Given the description of an element on the screen output the (x, y) to click on. 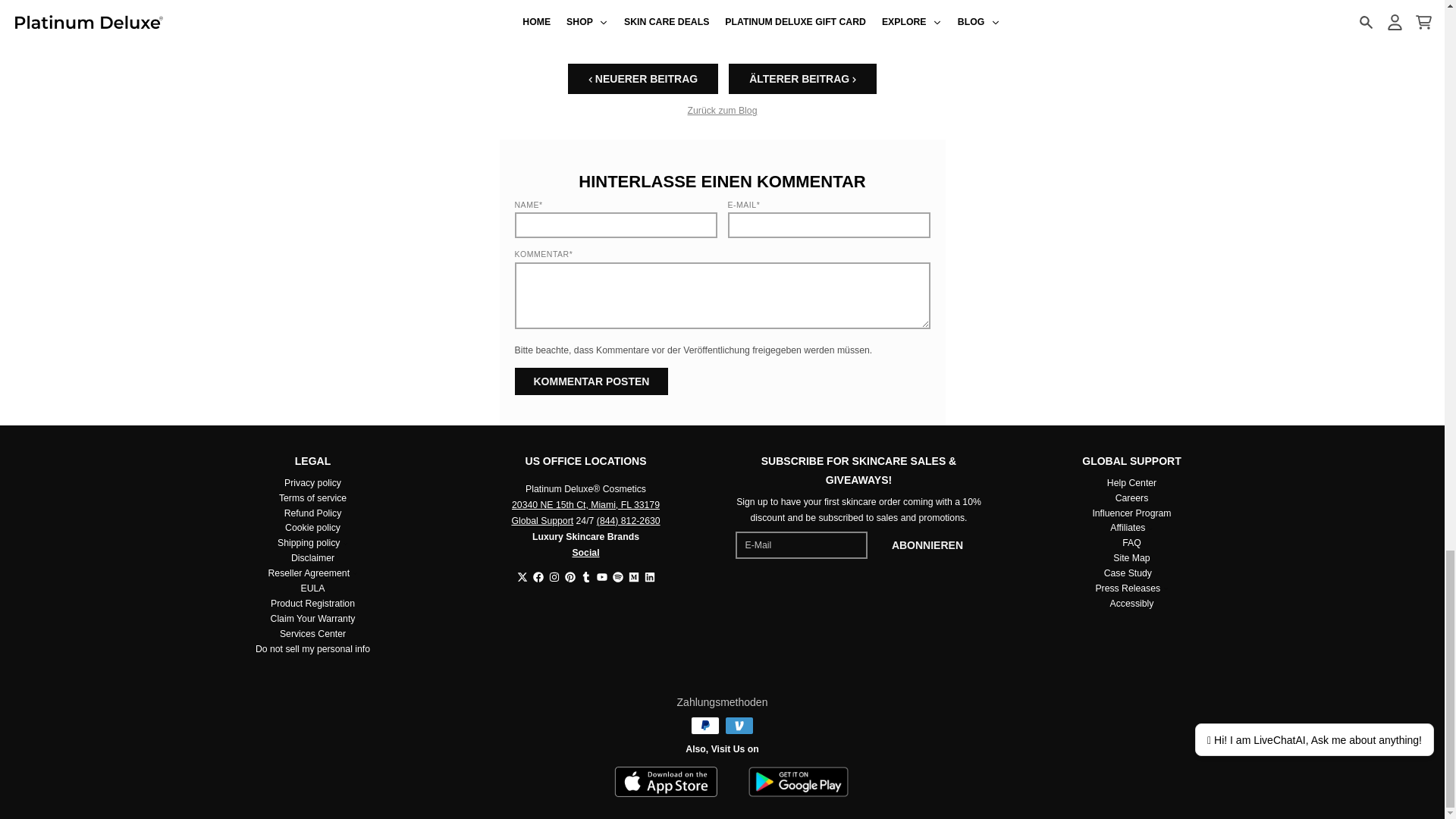
LinkedIn - Platinum Deluxe Cosmetics (650, 576)
Spotify - Platinum Deluxe Cosmetics (617, 576)
Instagram - Platinum Deluxe Cosmetics (553, 576)
Medium - Platinum Deluxe Cosmetics (633, 576)
Pinterest - Platinum Deluxe Cosmetics (569, 576)
Facebook - Platinum Deluxe Cosmetics (537, 576)
Tumblr - Platinum Deluxe Cosmetics (585, 576)
YouTube - Platinum Deluxe Cosmetics (601, 576)
Kommentar posten (590, 380)
Twitter - Platinum Deluxe Cosmetics (521, 576)
